Given the description of an element on the screen output the (x, y) to click on. 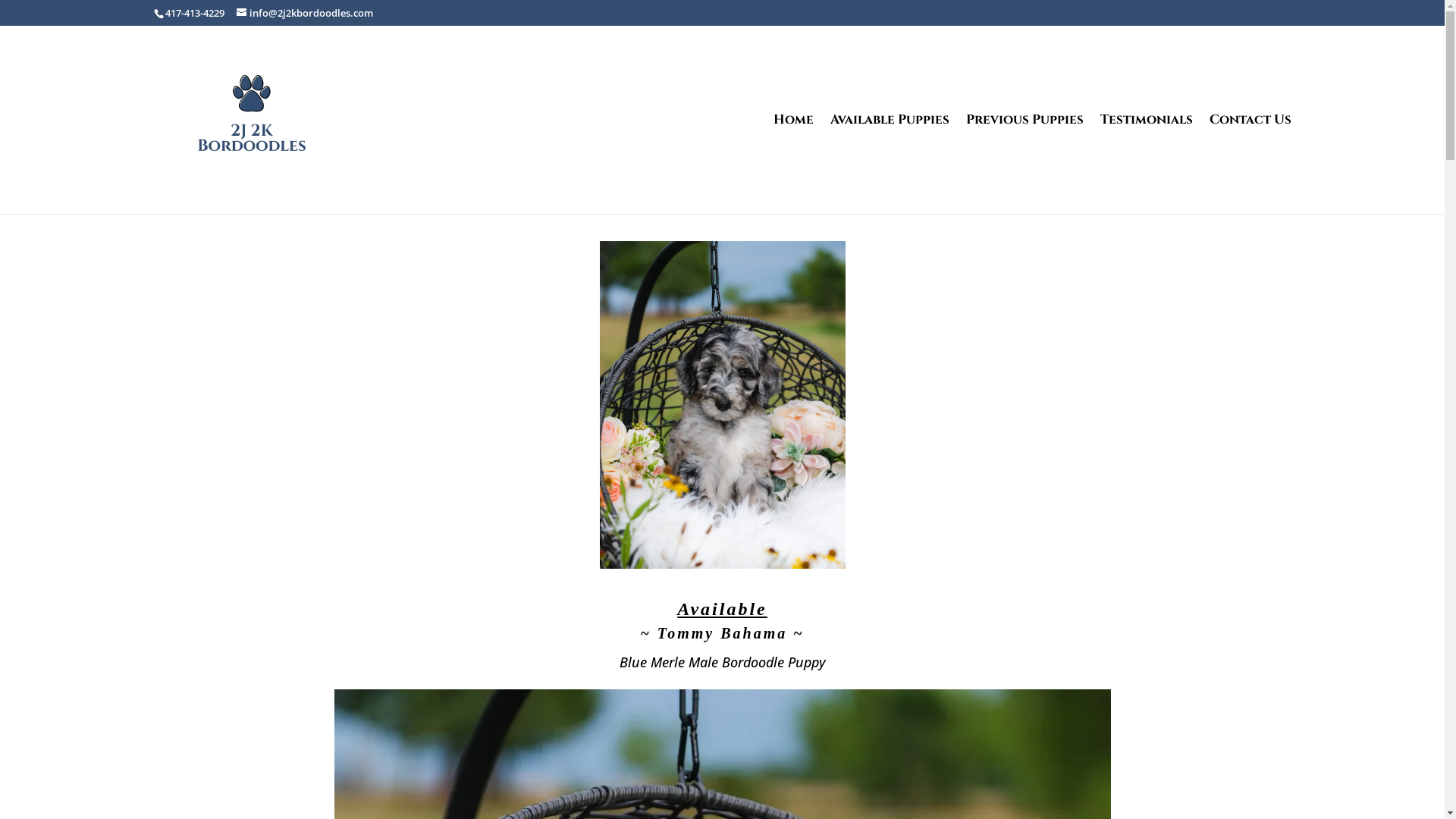
Contact Us Element type: text (1249, 163)
Testimonials Element type: text (1145, 163)
info@2j2kbordoodles.com Element type: text (304, 12)
Available Puppies Element type: text (888, 163)
Home Element type: text (793, 163)
Previous Puppies Element type: text (1024, 163)
